Given the description of an element on the screen output the (x, y) to click on. 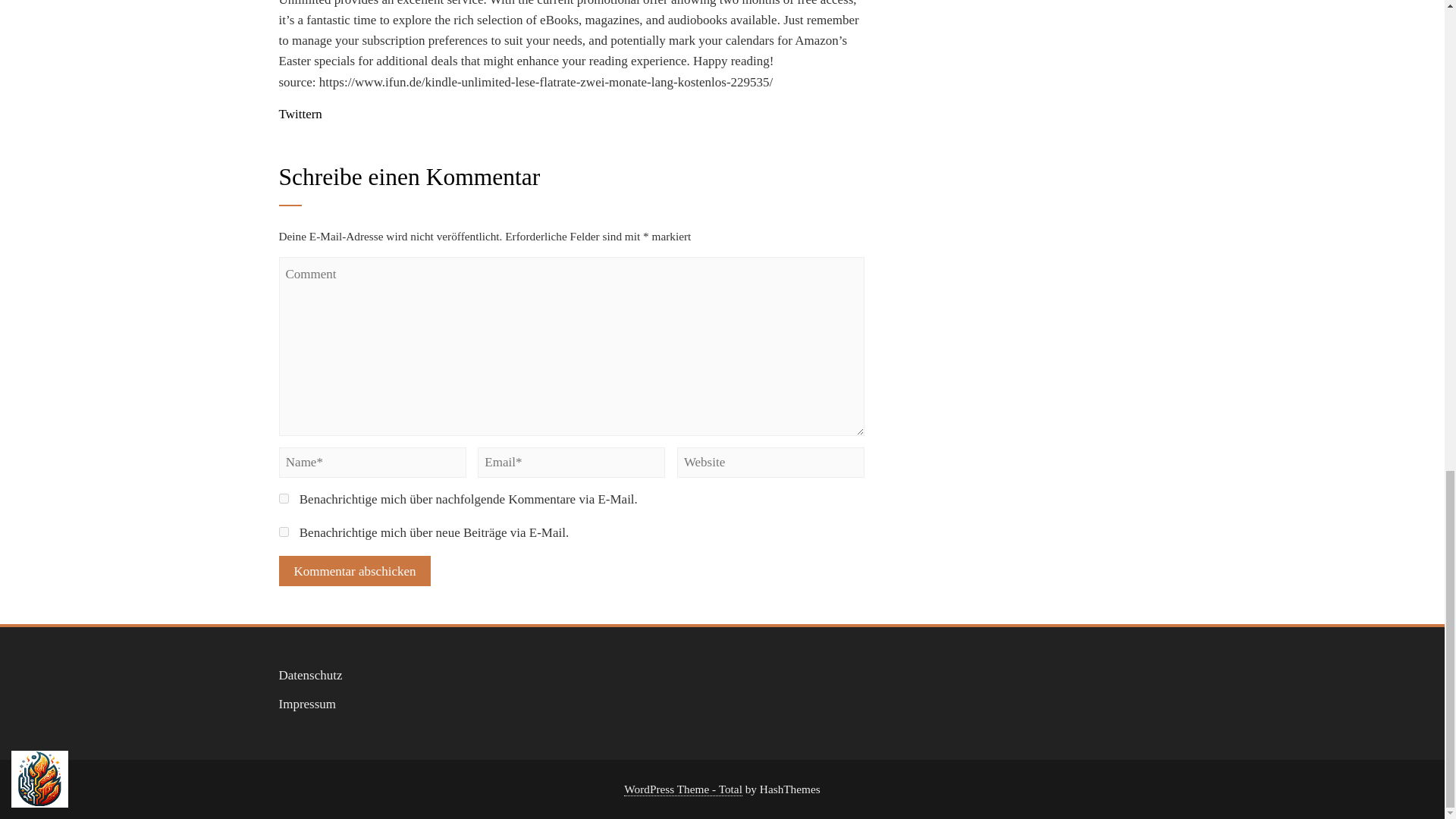
Impressum (307, 703)
Twittern (300, 114)
Kommentar abschicken (354, 571)
subscribe (283, 498)
WordPress Theme - Total (683, 789)
Kommentar abschicken (354, 571)
subscribe (283, 532)
Datenschutz (310, 675)
